Given the description of an element on the screen output the (x, y) to click on. 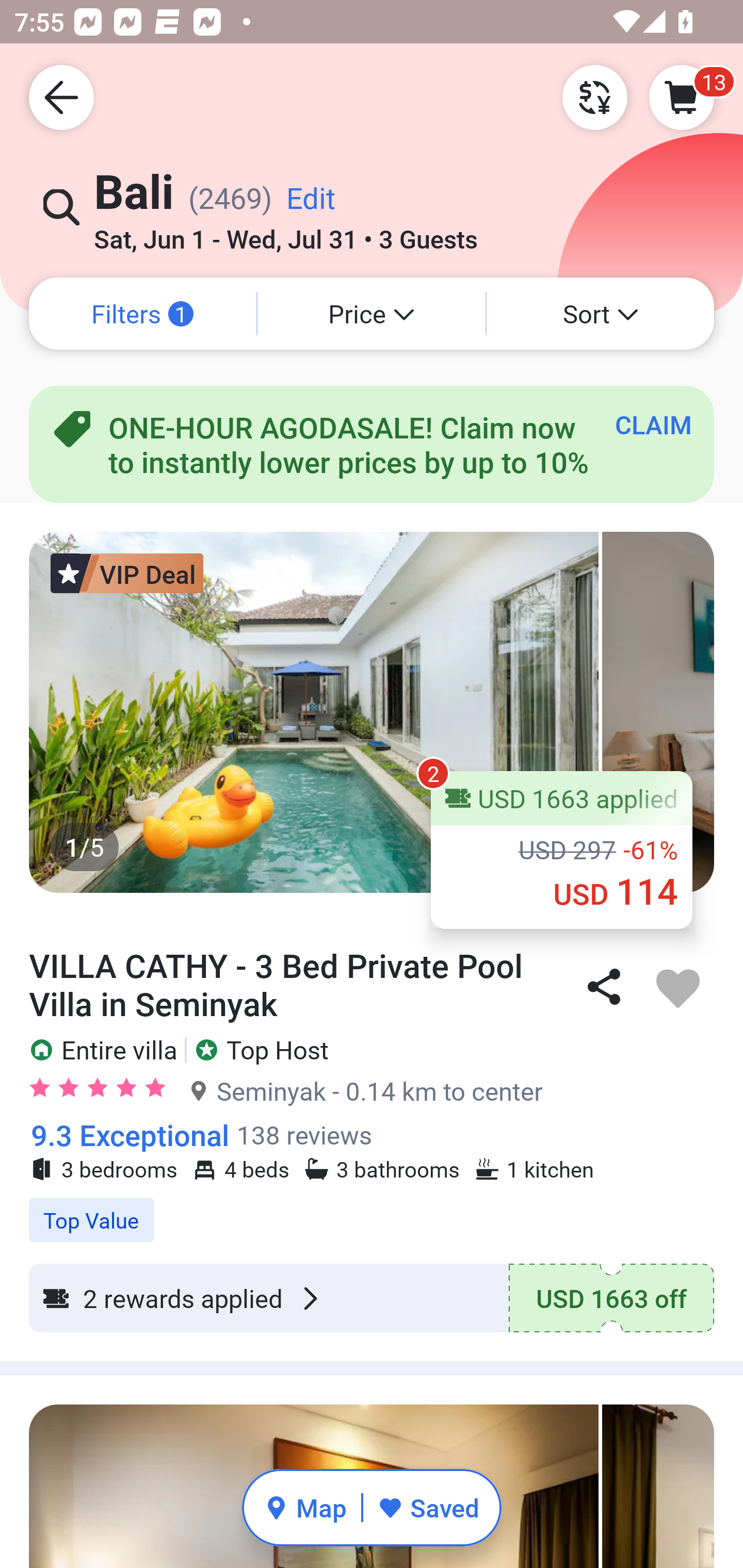
Filters 1 (141, 313)
Price (371, 313)
Sort (600, 313)
CLAIM (653, 424)
VIP Deal (126, 572)
1/5 (371, 711)
USD 1663 applied ‪USD 297 -61% ‪USD 114 2 (561, 849)
Top Value (371, 1209)
2 rewards applied USD 1663 off (371, 1298)
Map (305, 1507)
Saved (428, 1507)
